Given the description of an element on the screen output the (x, y) to click on. 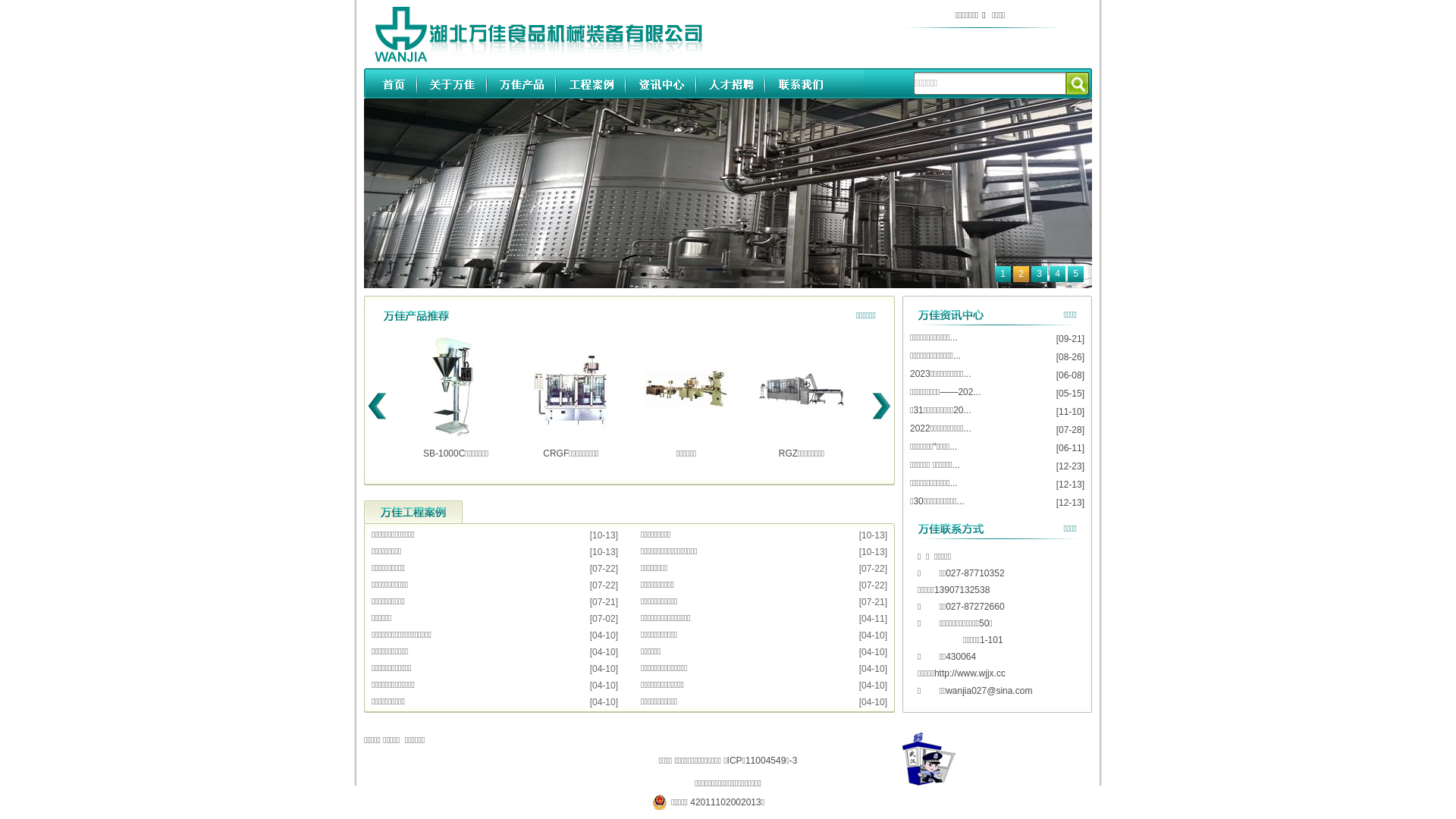
4 Element type: text (1057, 274)
3 Element type: text (1039, 274)
2 Element type: text (1021, 274)
http://www.wjjx.cc Element type: text (969, 673)
5 Element type: text (1075, 274)
wanjia027@sina.com Element type: text (988, 690)
1 Element type: text (1002, 274)
